Given the description of an element on the screen output the (x, y) to click on. 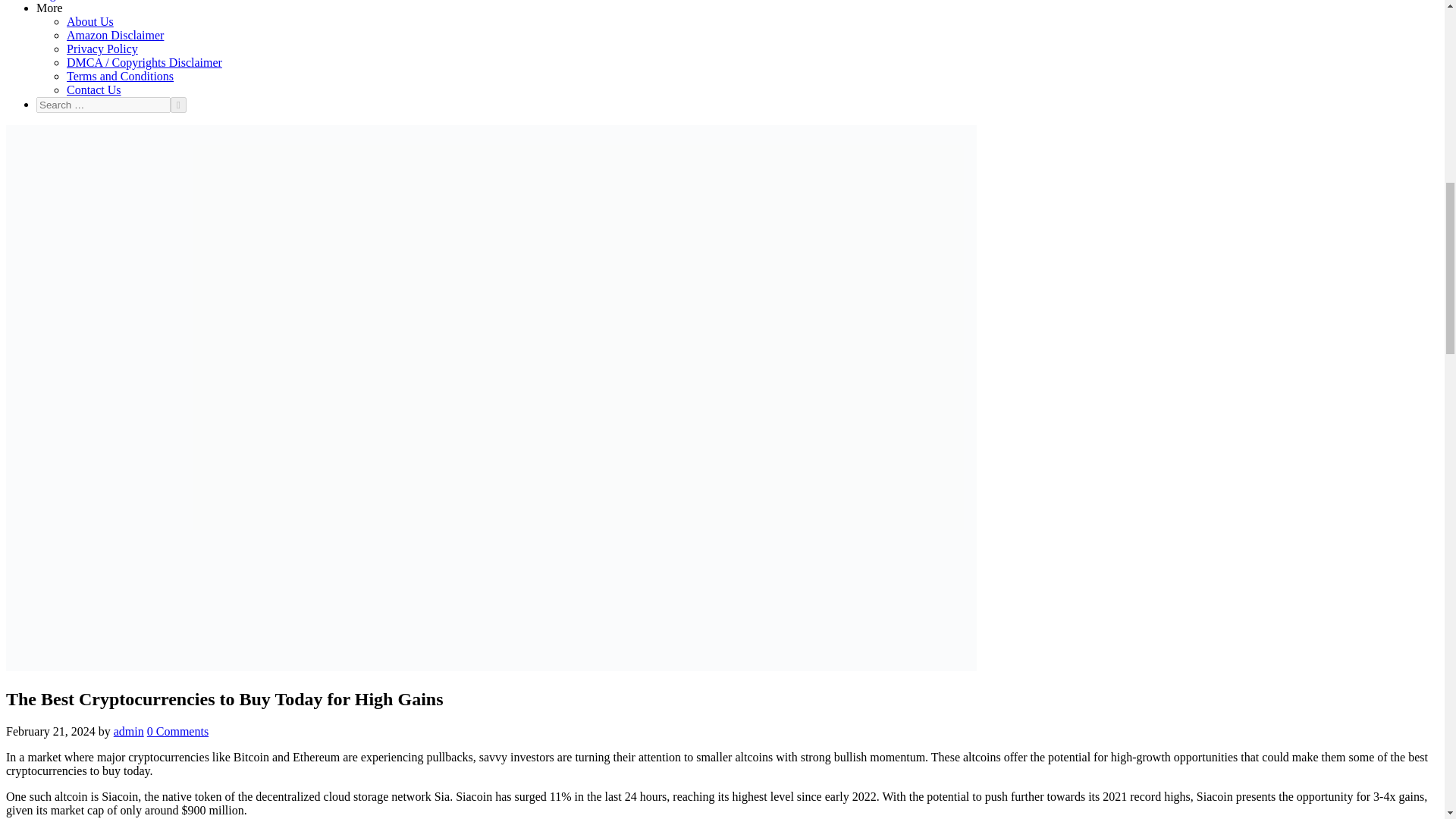
About Us (89, 21)
More (49, 7)
Amazon Disclaimer (114, 34)
Regulation (62, 0)
Privacy Policy (102, 48)
